Given the description of an element on the screen output the (x, y) to click on. 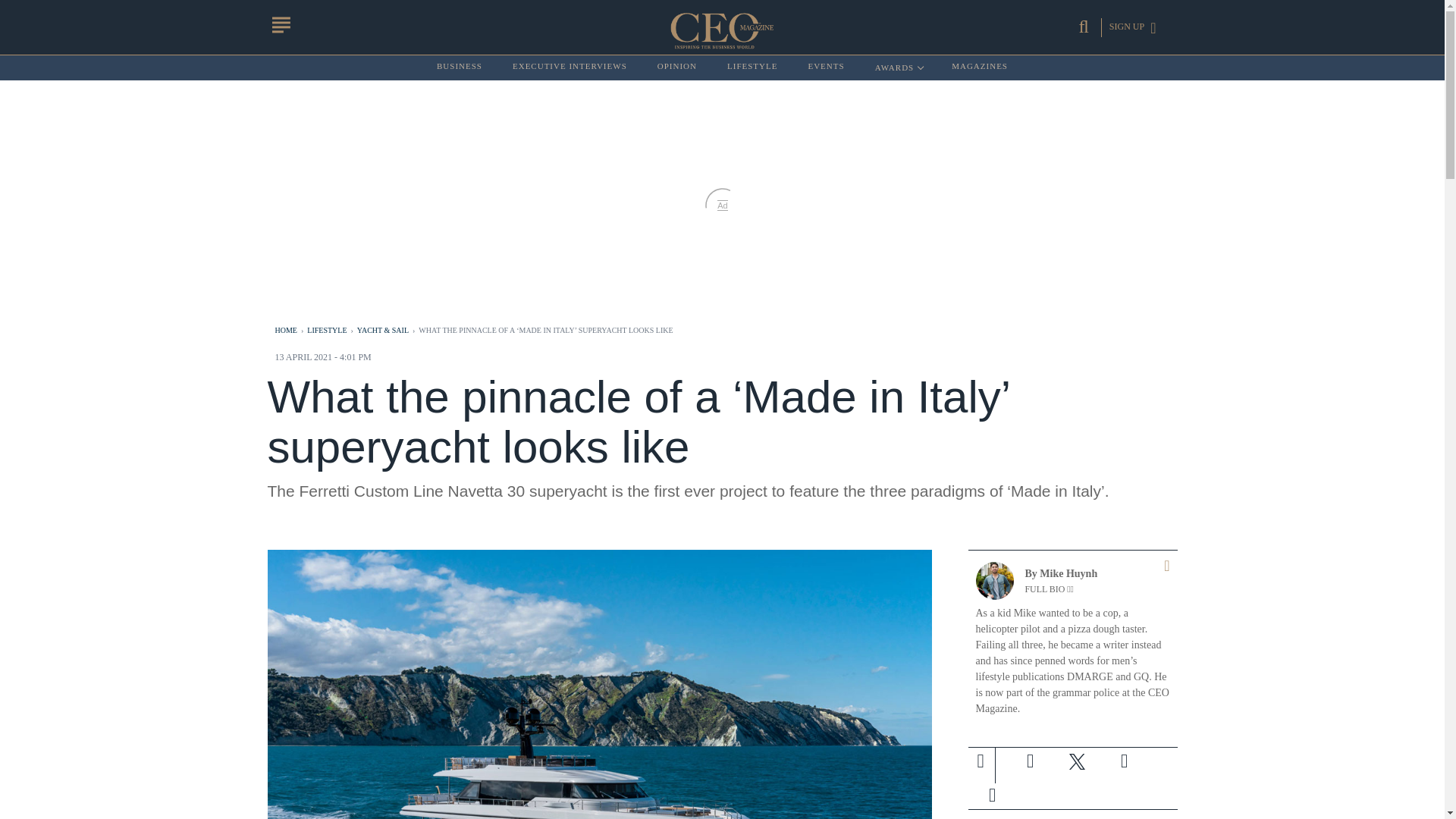
Subscribe (991, 795)
MAGAZINES (979, 66)
EXECUTIVE INTERVIEWS (569, 66)
Share to Twitter (1076, 760)
Opinion (677, 66)
Share to Linkedin (1123, 760)
Sign-up (898, 67)
OPINION (991, 795)
Share to Facebook (677, 66)
LIFESTYLE (1029, 760)
EVENTS (751, 66)
BUSINESS (826, 66)
Executive Interviews (458, 66)
